Given the description of an element on the screen output the (x, y) to click on. 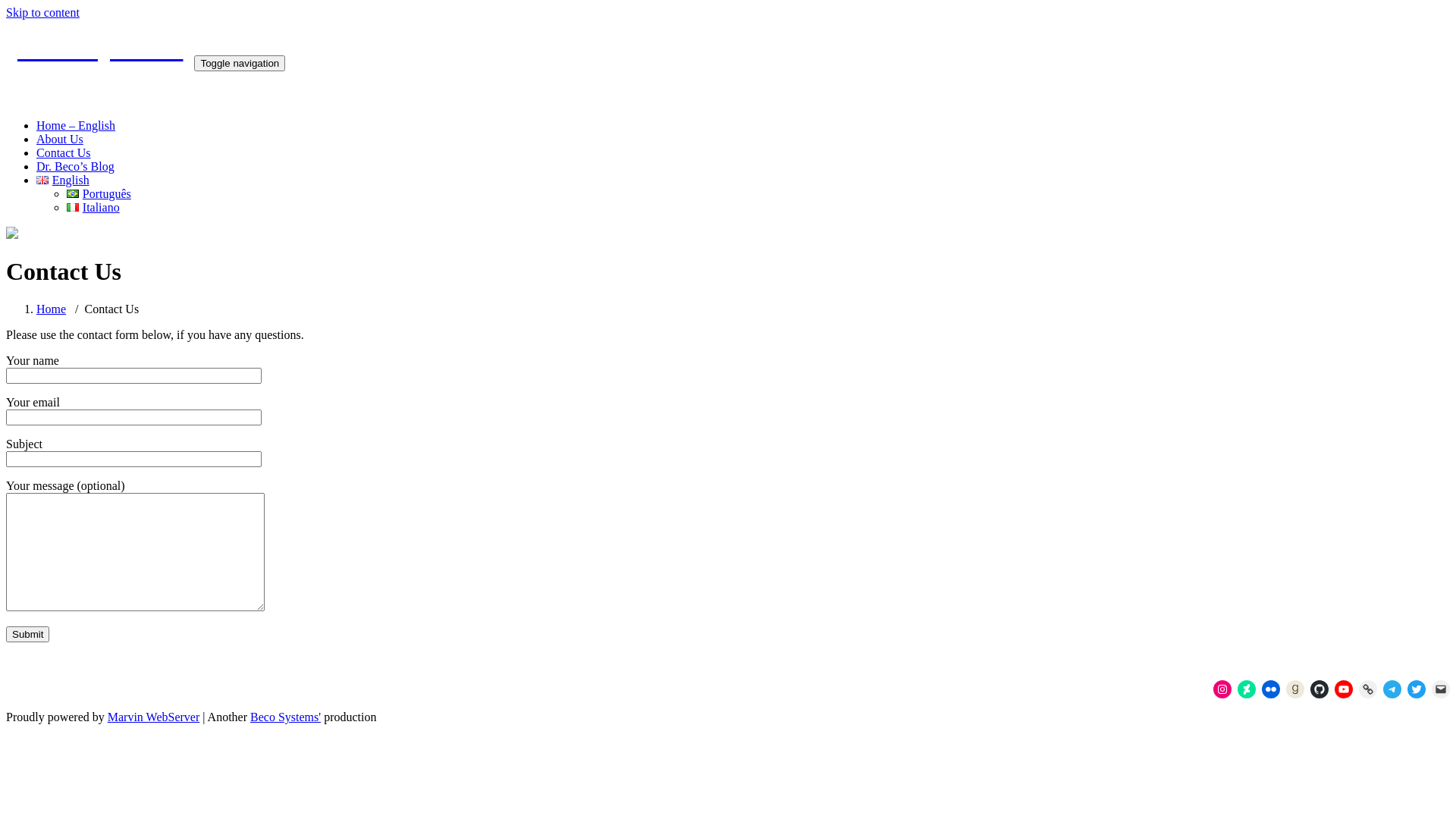
Link Element type: text (1367, 689)
YouTube Element type: text (1343, 689)
Contact Us Element type: text (111, 308)
English Element type: text (62, 179)
Marvin WebServer Element type: text (153, 716)
Beco Systems' Element type: text (285, 716)
Contact Us Element type: text (63, 152)
Submit Element type: text (27, 634)
About Us Element type: text (59, 138)
Italiano Element type: text (92, 206)
Mail Element type: text (1440, 689)
Twitter Element type: text (1416, 689)
Flickr Element type: text (1270, 689)
Toggle navigation Element type: text (239, 63)
Goodreads Element type: text (1295, 689)
Beco Systems Element type: text (99, 47)
Home Element type: text (50, 308)
Telegram Element type: text (1392, 689)
Instagram Element type: text (1222, 689)
DeviantArt Element type: text (1246, 689)
Skip to content Element type: text (42, 12)
GitHub Element type: text (1319, 689)
